Given the description of an element on the screen output the (x, y) to click on. 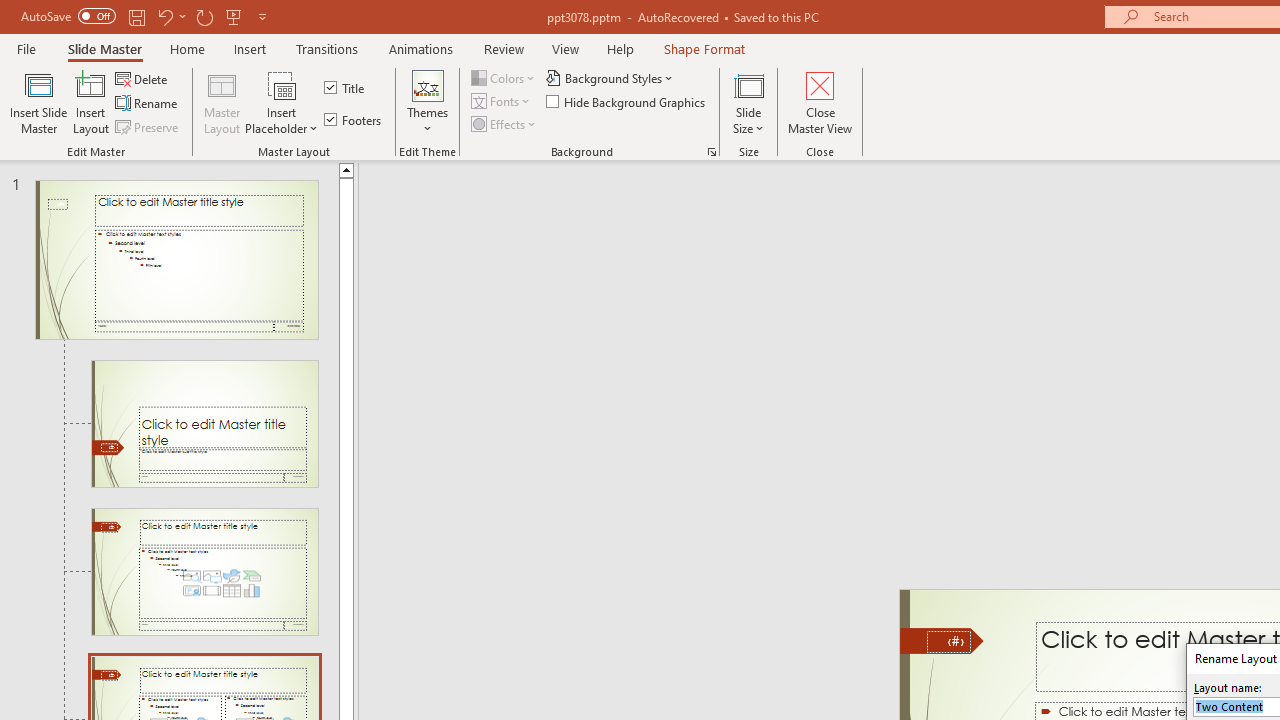
Background Styles (610, 78)
Close Master View (820, 102)
Title (346, 87)
Fonts (502, 101)
Footers (354, 119)
Slide Title and Content Layout: used by no slides (204, 572)
Slide Wisp Slide Master: used by slide(s) 1 (176, 259)
Content (282, 84)
Effects (505, 124)
